Given the description of an element on the screen output the (x, y) to click on. 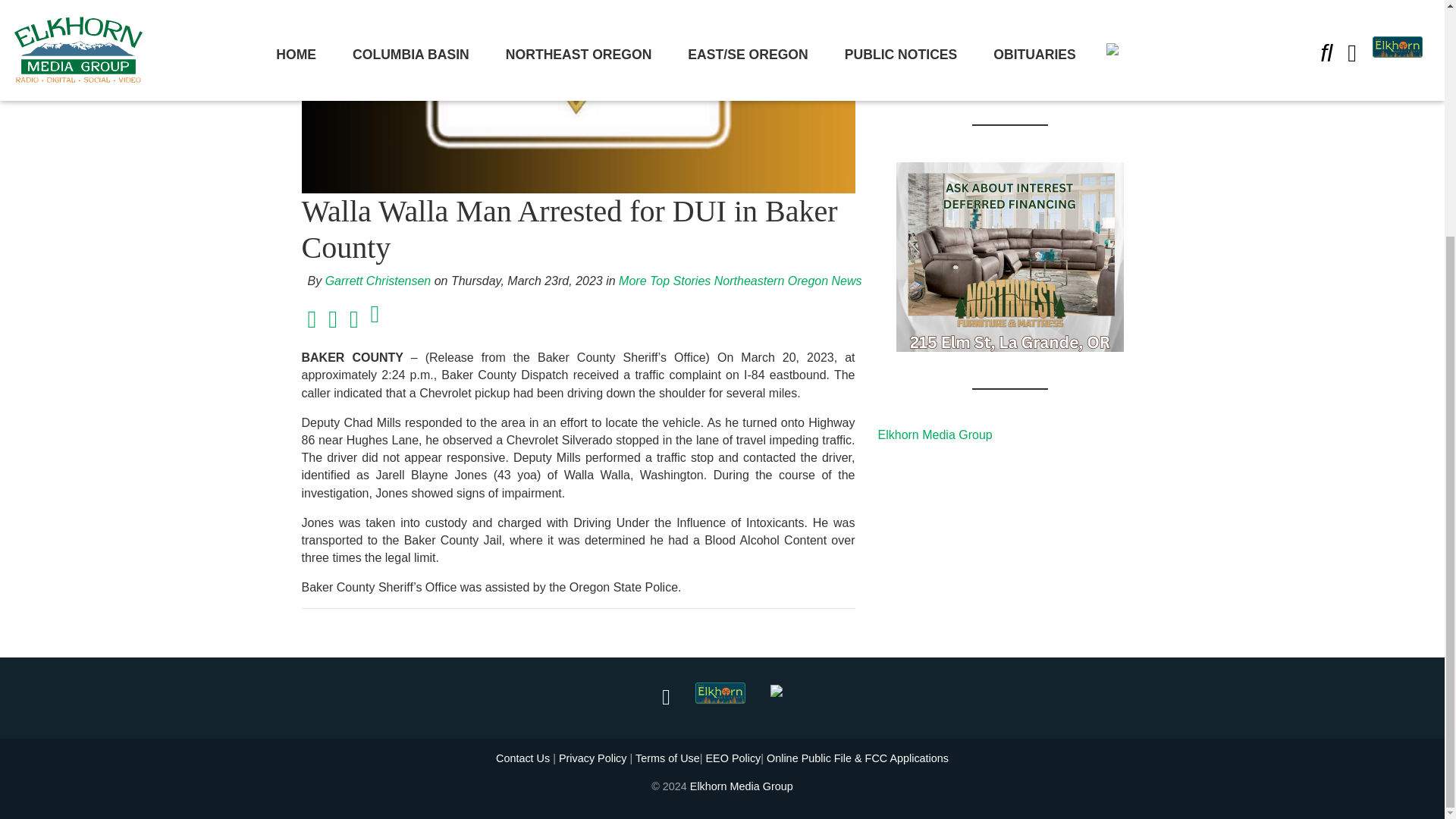
Garrett Christensen (377, 280)
Northeastern Oregon News (787, 280)
EEO Policy (732, 758)
Privacy Policy (593, 758)
Elkhorn Media Group (741, 786)
Elkhorn Media Group (934, 434)
Posts by Garrett Christensen (377, 280)
Contact Us (523, 758)
More Top Stories (664, 280)
Terms of Use (667, 758)
